Given the description of an element on the screen output the (x, y) to click on. 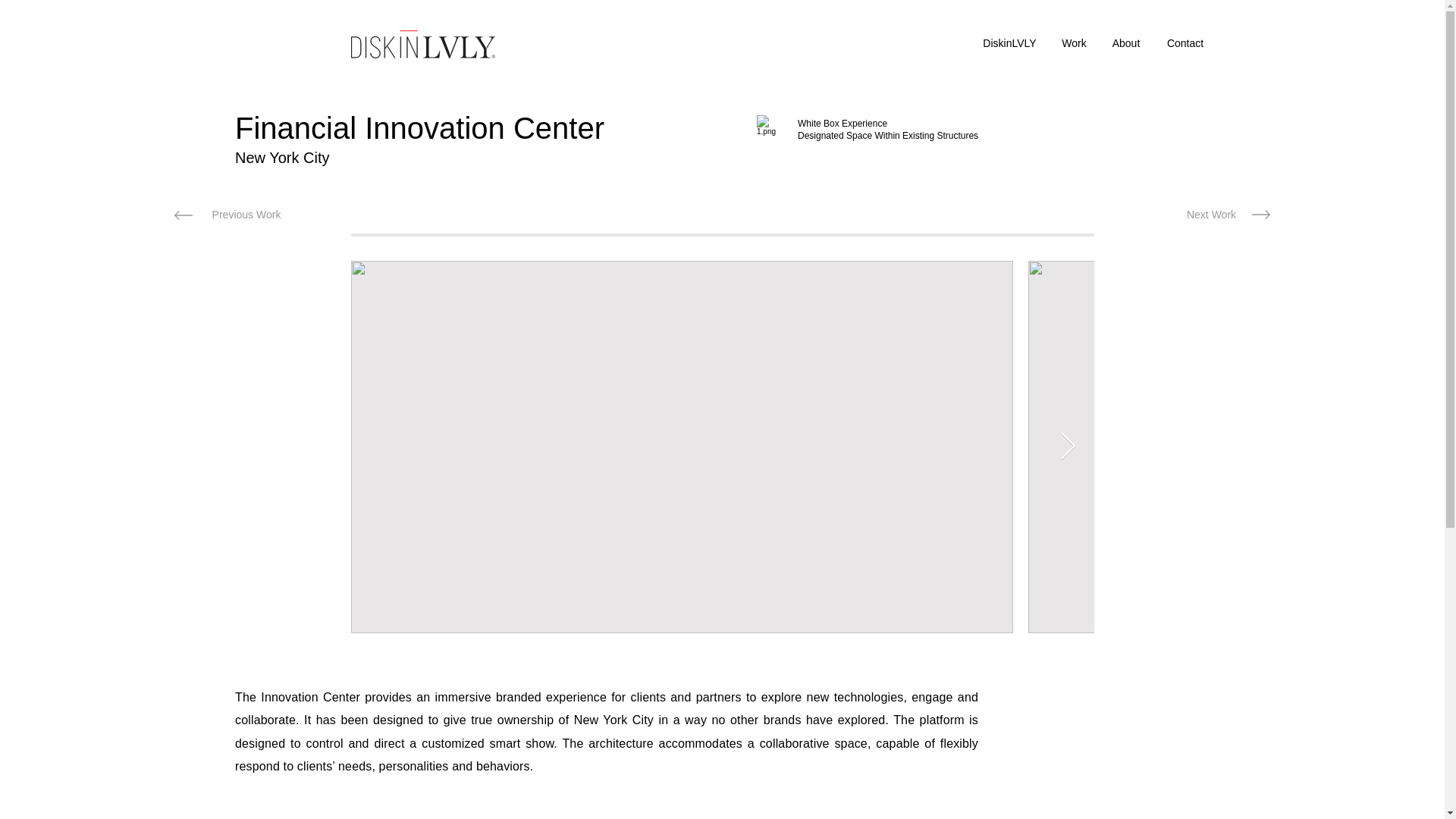
DiskinLVLY (1009, 43)
About (1126, 43)
Contact (1185, 43)
Next Work (1211, 214)
Previous Work (245, 214)
